Given the description of an element on the screen output the (x, y) to click on. 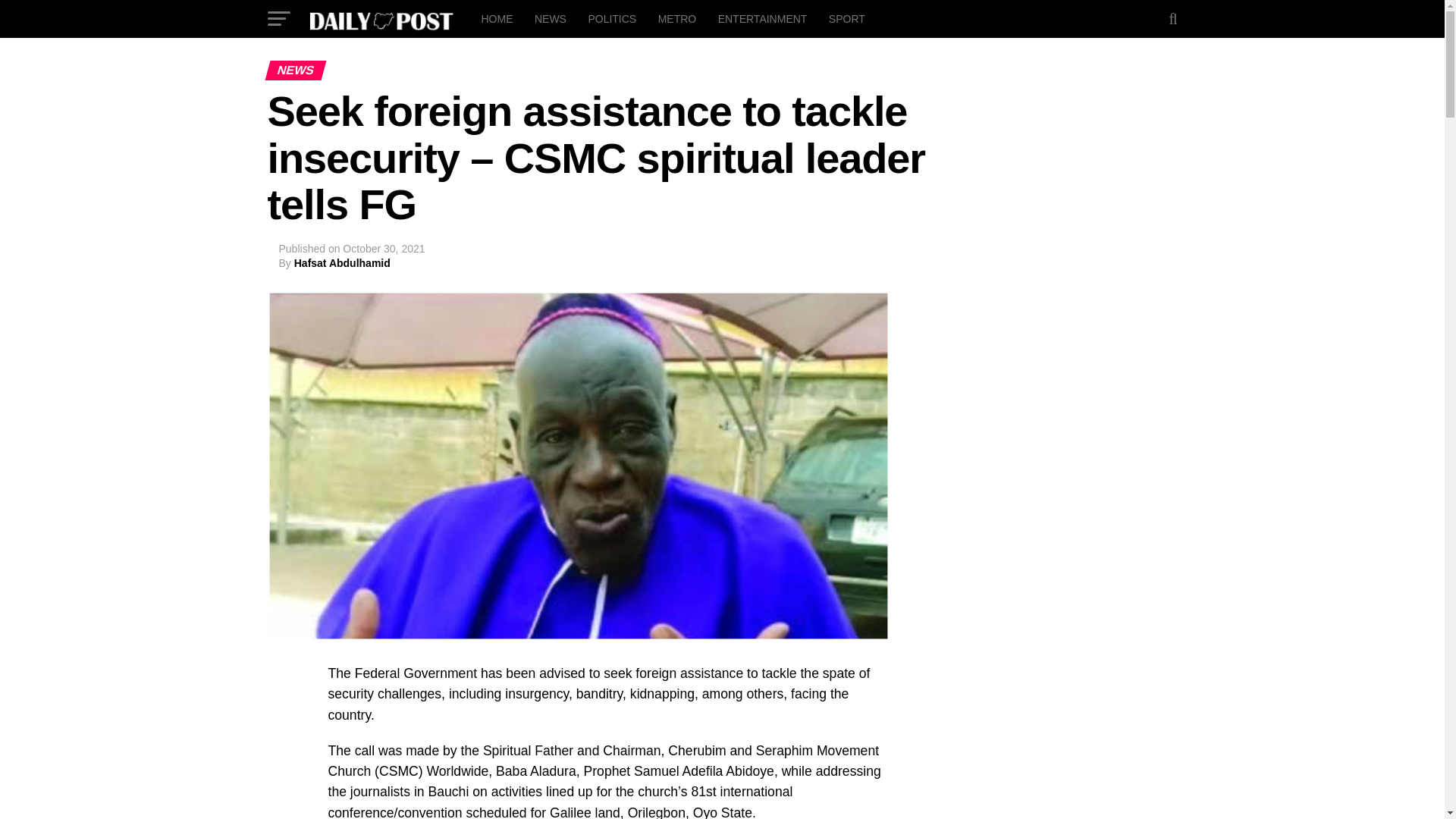
ENTERTAINMENT (762, 18)
Posts by Hafsat Abdulhamid (342, 263)
HOME (496, 18)
METRO (677, 18)
NEWS (550, 18)
Hafsat Abdulhamid (342, 263)
POLITICS (611, 18)
SPORT (847, 18)
